Given the description of an element on the screen output the (x, y) to click on. 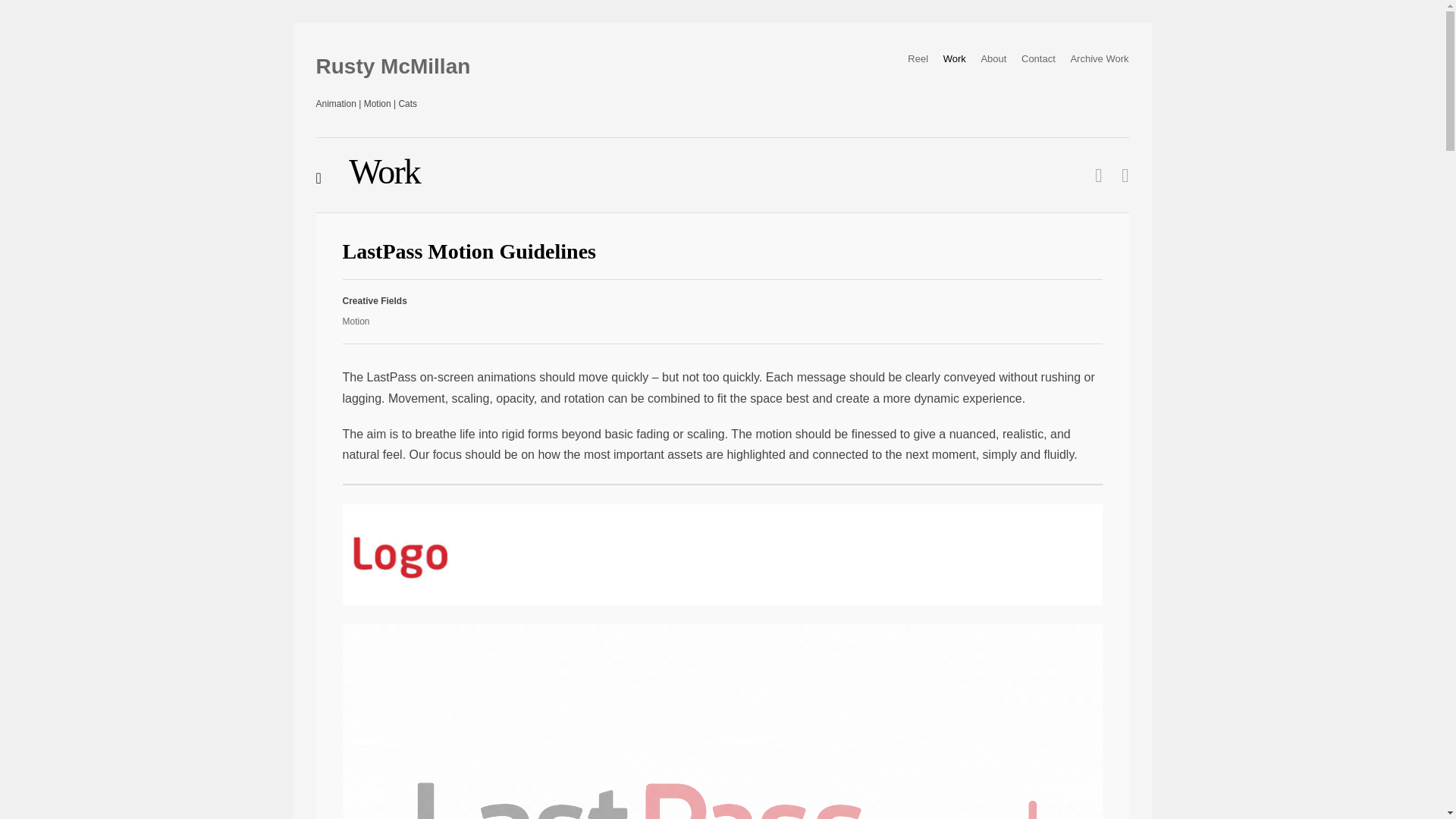
Rusty McMillan (392, 66)
About (992, 58)
Motion (355, 321)
Rusty McMillan (392, 66)
Work (367, 171)
Contact (1038, 58)
Reel (917, 58)
Archive Work (1099, 58)
Work (954, 58)
